Given the description of an element on the screen output the (x, y) to click on. 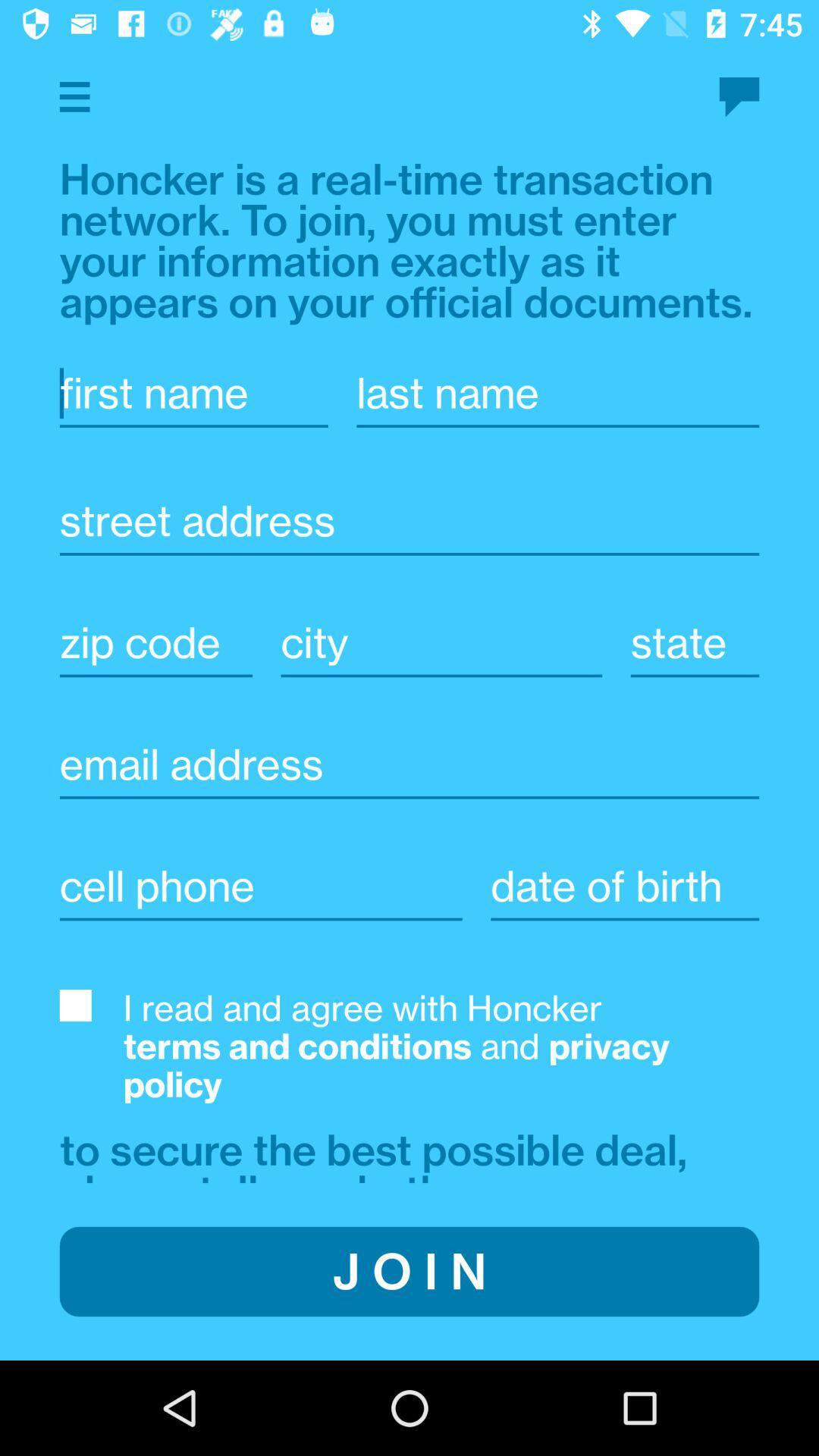
flip until the i read and (441, 1046)
